Given the description of an element on the screen output the (x, y) to click on. 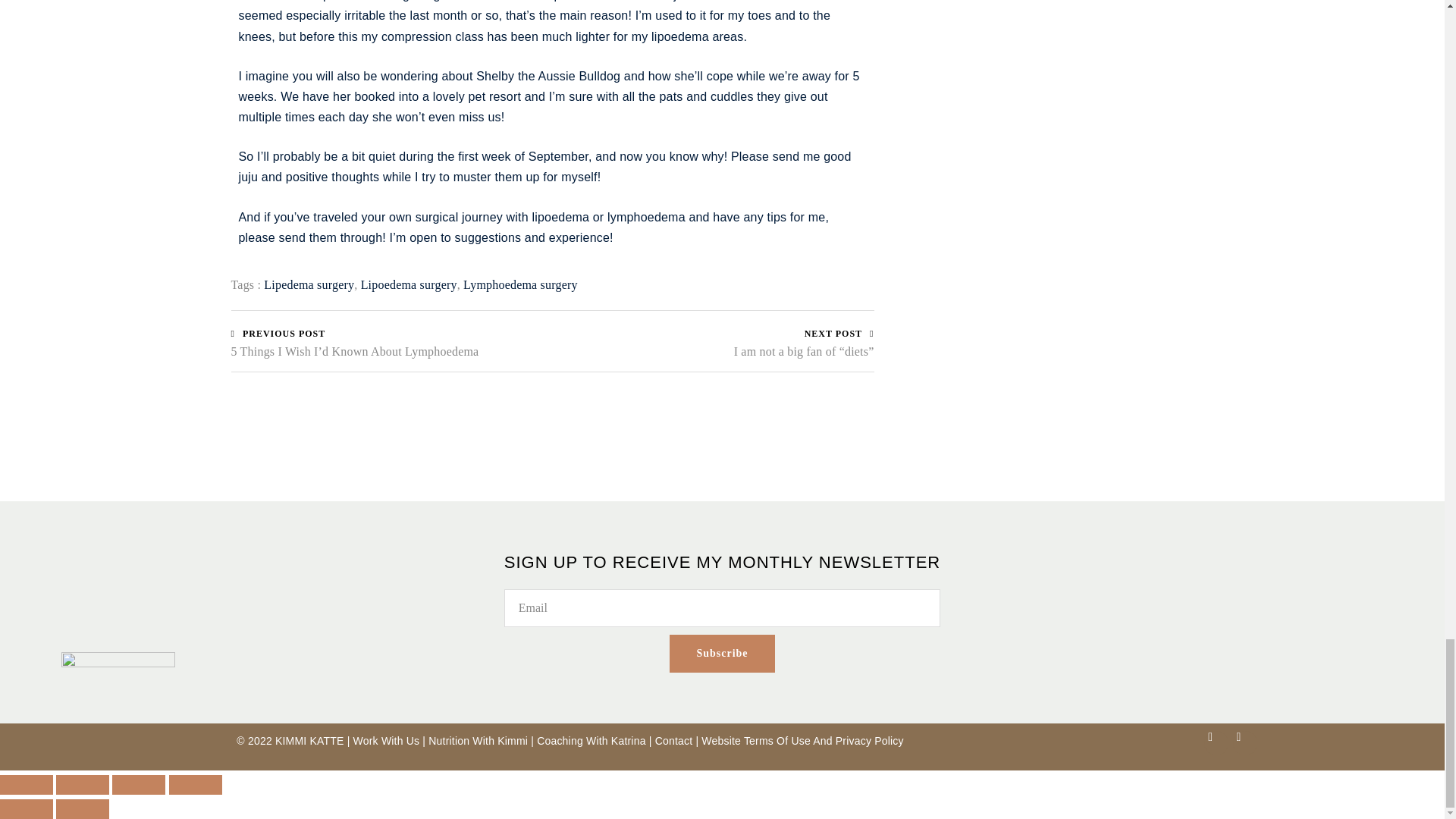
Lymphoedema surgery (520, 284)
Lipedema surgery (308, 284)
Lipoedema surgery (409, 284)
